Given the description of an element on the screen output the (x, y) to click on. 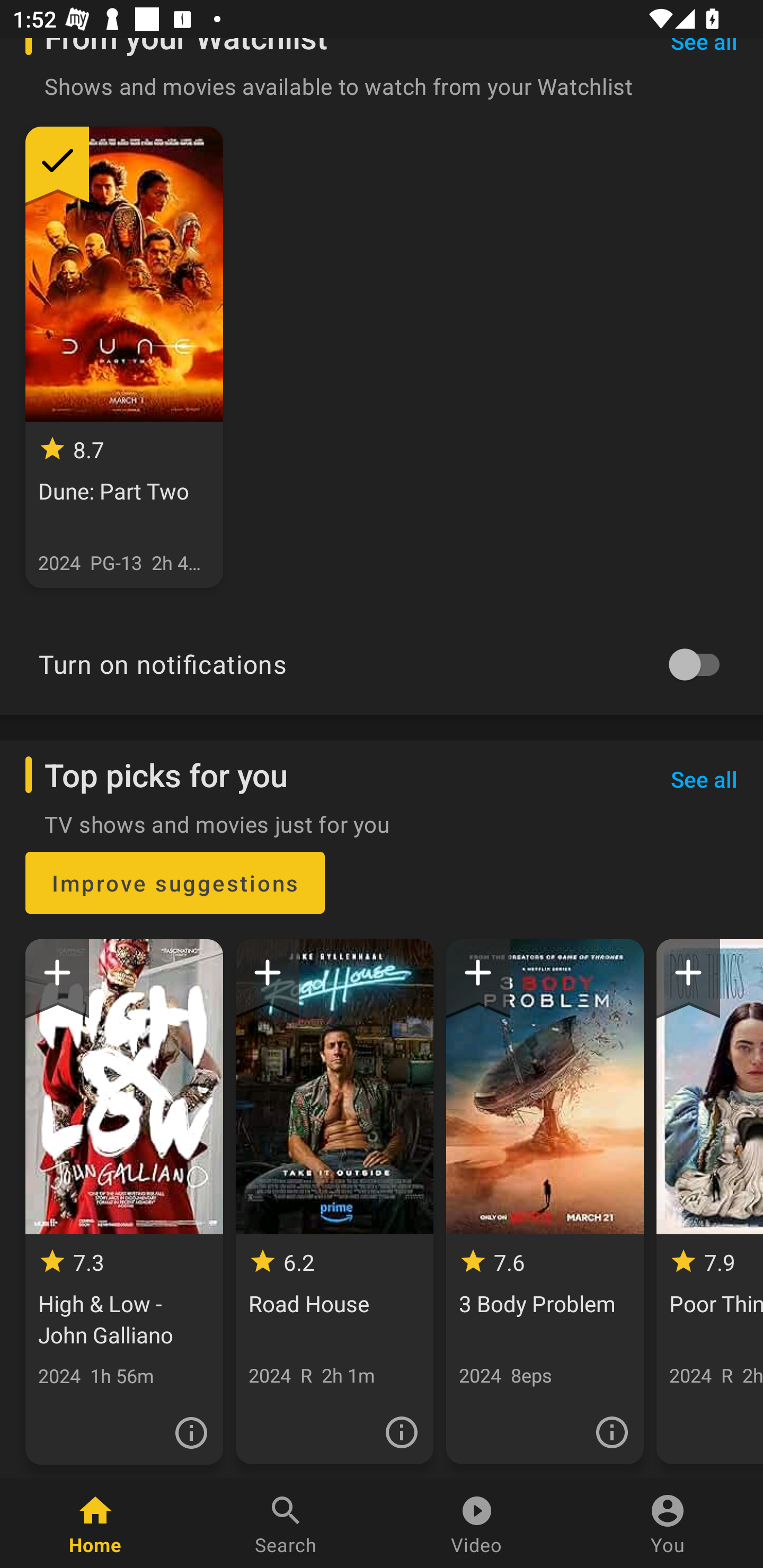
8.7 Dune: Part Two 2024  PG-13  2h 46m (123, 357)
See all See all Top picks for you (703, 778)
Improve suggestions (175, 882)
7.3 High & Low - John Galliano 2024  1h 56m (123, 1201)
6.2 Road House 2024  R  2h 1m (334, 1201)
7.6 3 Body Problem 2024  8eps (544, 1201)
Search (285, 1523)
Video (476, 1523)
You (667, 1523)
